Given the description of an element on the screen output the (x, y) to click on. 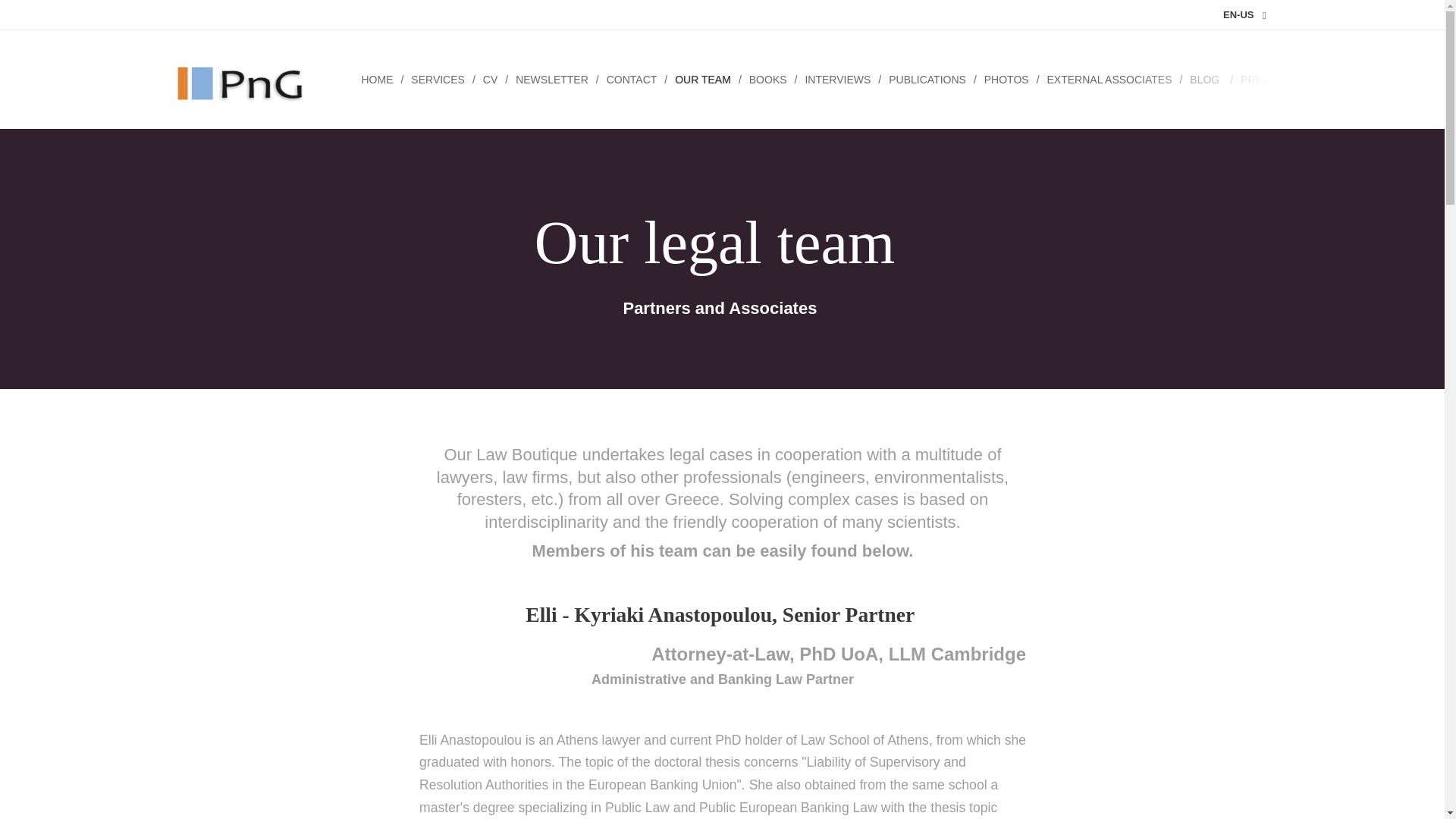
HOME (379, 79)
OUR TEAM (703, 79)
PHOTOS (1007, 79)
NEWSLETTER (553, 79)
EXTERNAL ASSOCIATES (1110, 79)
BOOKS (769, 79)
INTERVIEWS (838, 79)
SERVICES (438, 79)
BLOG (1207, 79)
CONTACT (633, 79)
